Given the description of an element on the screen output the (x, y) to click on. 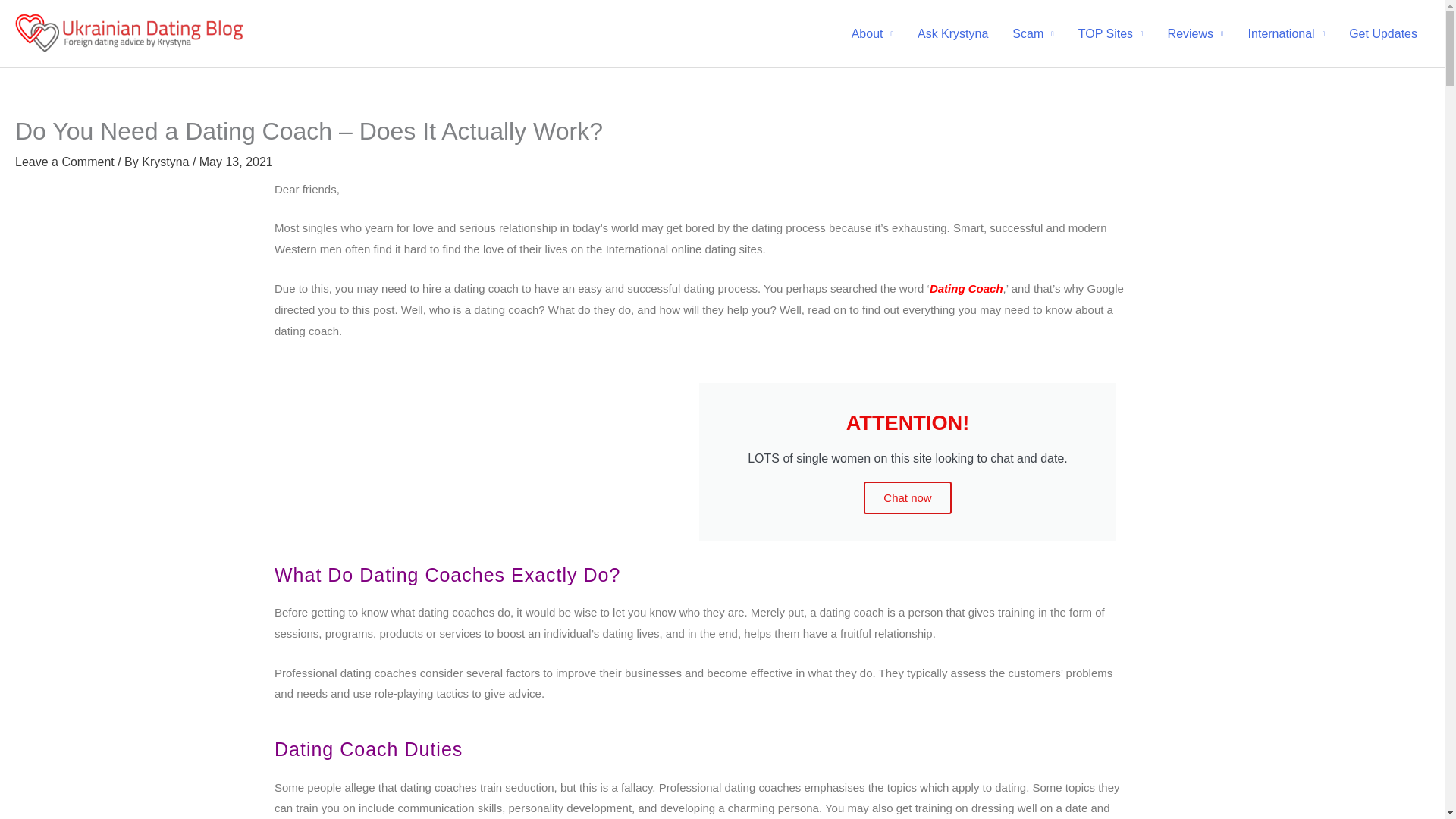
Ask Krystyna (952, 33)
About (872, 33)
Scam (1032, 33)
Reviews (1196, 33)
View all posts by Krystyna (166, 161)
TOP Sites (1110, 33)
